Given the description of an element on the screen output the (x, y) to click on. 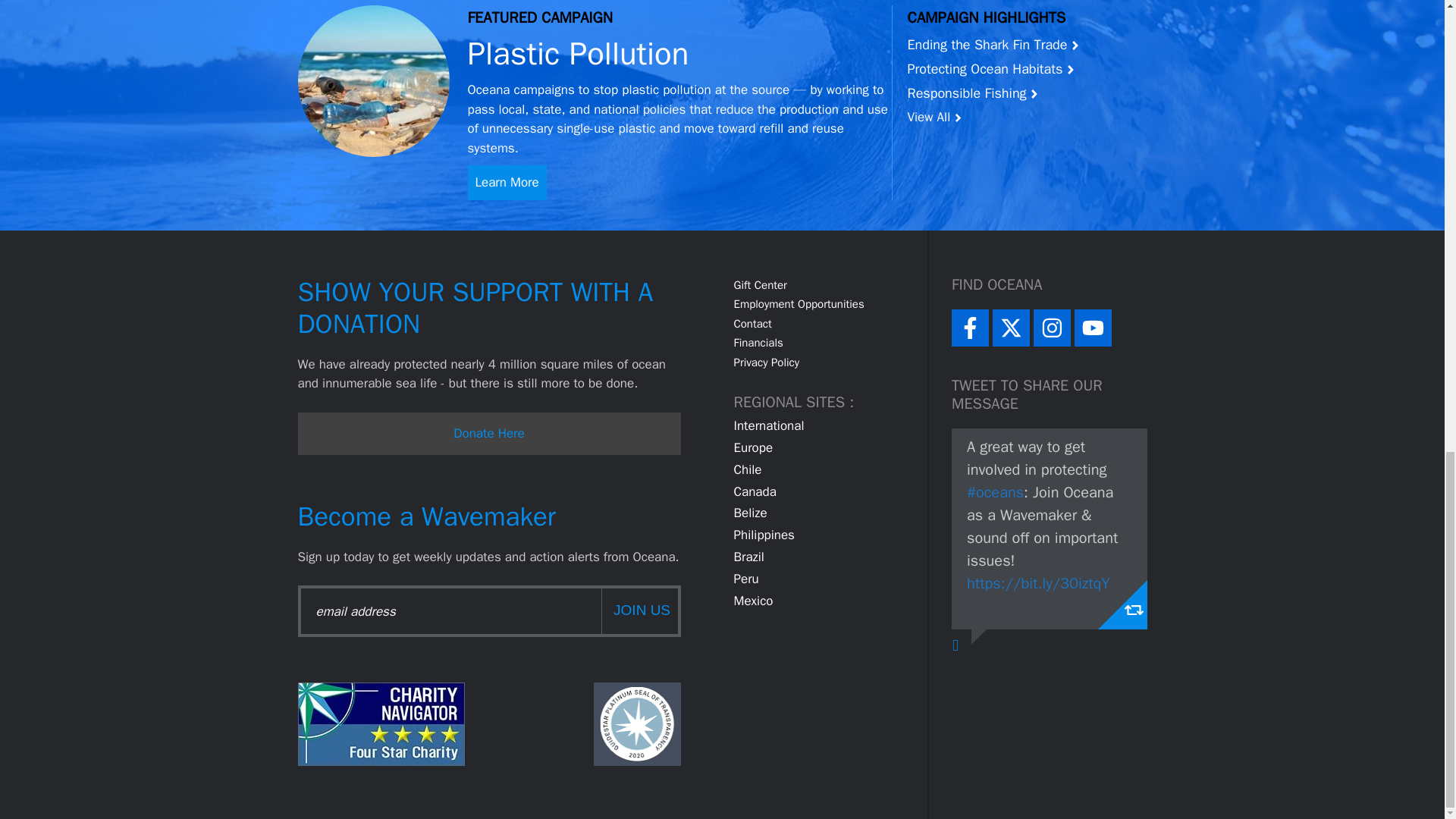
JOIN US (639, 610)
Scroll back to top (1406, 524)
